Given the description of an element on the screen output the (x, y) to click on. 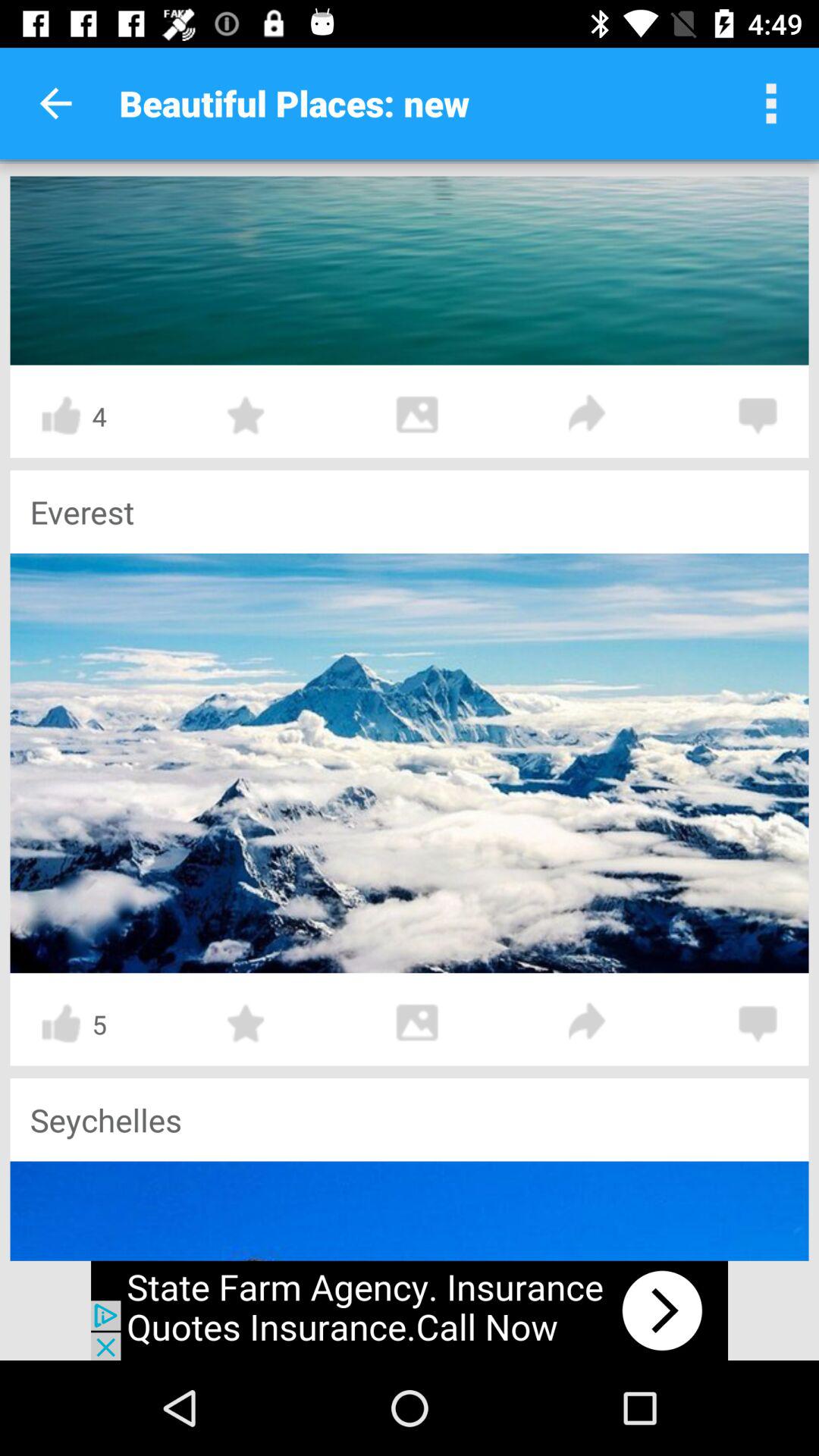
chat (757, 415)
